Given the description of an element on the screen output the (x, y) to click on. 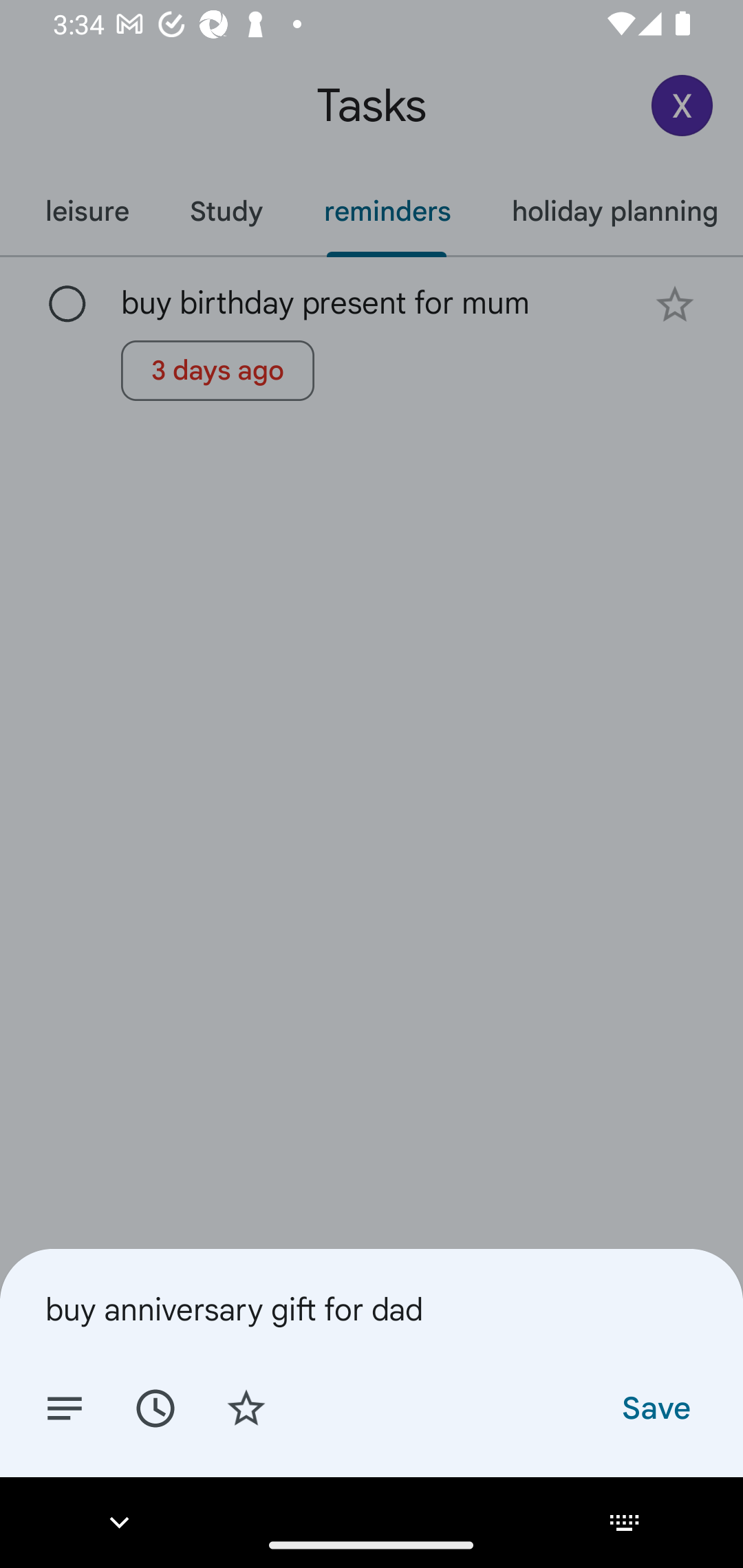
buy anniversary gift for dad (371, 1308)
Save (655, 1407)
Add details (64, 1407)
Set date/time (154, 1407)
Add star (245, 1407)
